Given the description of an element on the screen output the (x, y) to click on. 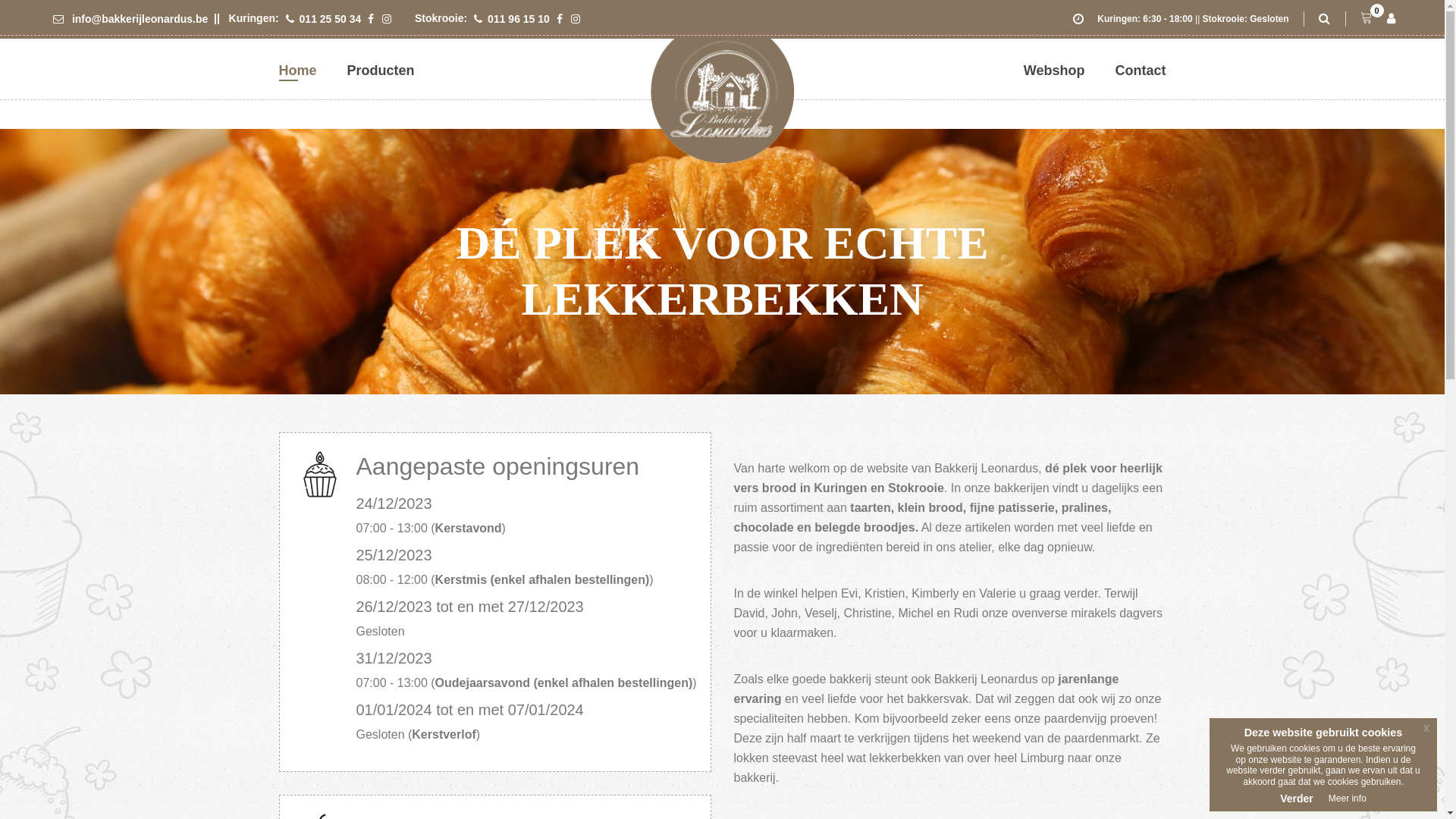
011 25 50 34 Element type: text (323, 18)
Verder Element type: text (1296, 798)
Home Element type: text (297, 70)
Contact Element type: text (1139, 70)
Meer info Element type: text (1347, 798)
Webshop Element type: text (1054, 70)
info@bakkerijleonardus.be Element type: text (130, 18)
Producten Element type: text (380, 70)
011 96 15 10 Element type: text (511, 18)
x Element type: text (1426, 727)
